Given the description of an element on the screen output the (x, y) to click on. 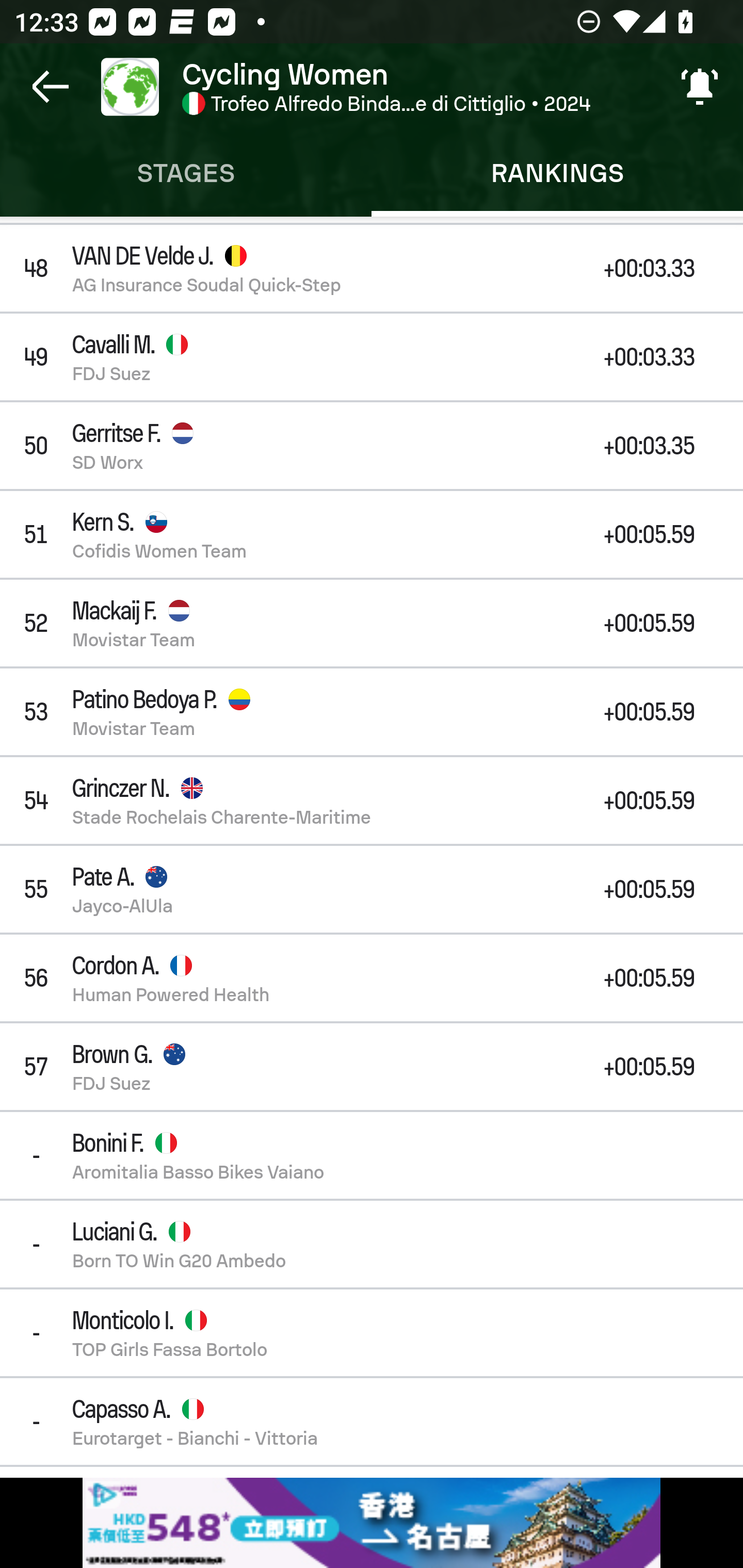
Navigate up (50, 86)
Stages STAGES (185, 173)
49 Cavalli M. FDJ Suez +00:03.33 (371, 356)
50 Gerritse F. SD Worx +00:03.35 (371, 445)
51 Kern S. Cofidis Women Team +00:05.59 (371, 533)
52 Mackaij F. Movistar Team +00:05.59 (371, 623)
53 Patino Bedoya P. Movistar Team +00:05.59 (371, 711)
55 Pate A. Jayco-AlUla +00:05.59 (371, 888)
56 Cordon A. Human Powered Health +00:05.59 (371, 977)
57 Brown G. FDJ Suez +00:05.59 (371, 1066)
- Bonini F. Aromitalia Basso Bikes Vaiano (371, 1154)
- Luciani G. Born TO Win G20 Ambedo (371, 1244)
- Monticolo I. TOP Girls Fassa Bortolo (371, 1332)
- Capasso A. Eurotarget - Bianchi - Vittoria (371, 1421)
ysfecx5i_320x50 (371, 1522)
